Given the description of an element on the screen output the (x, y) to click on. 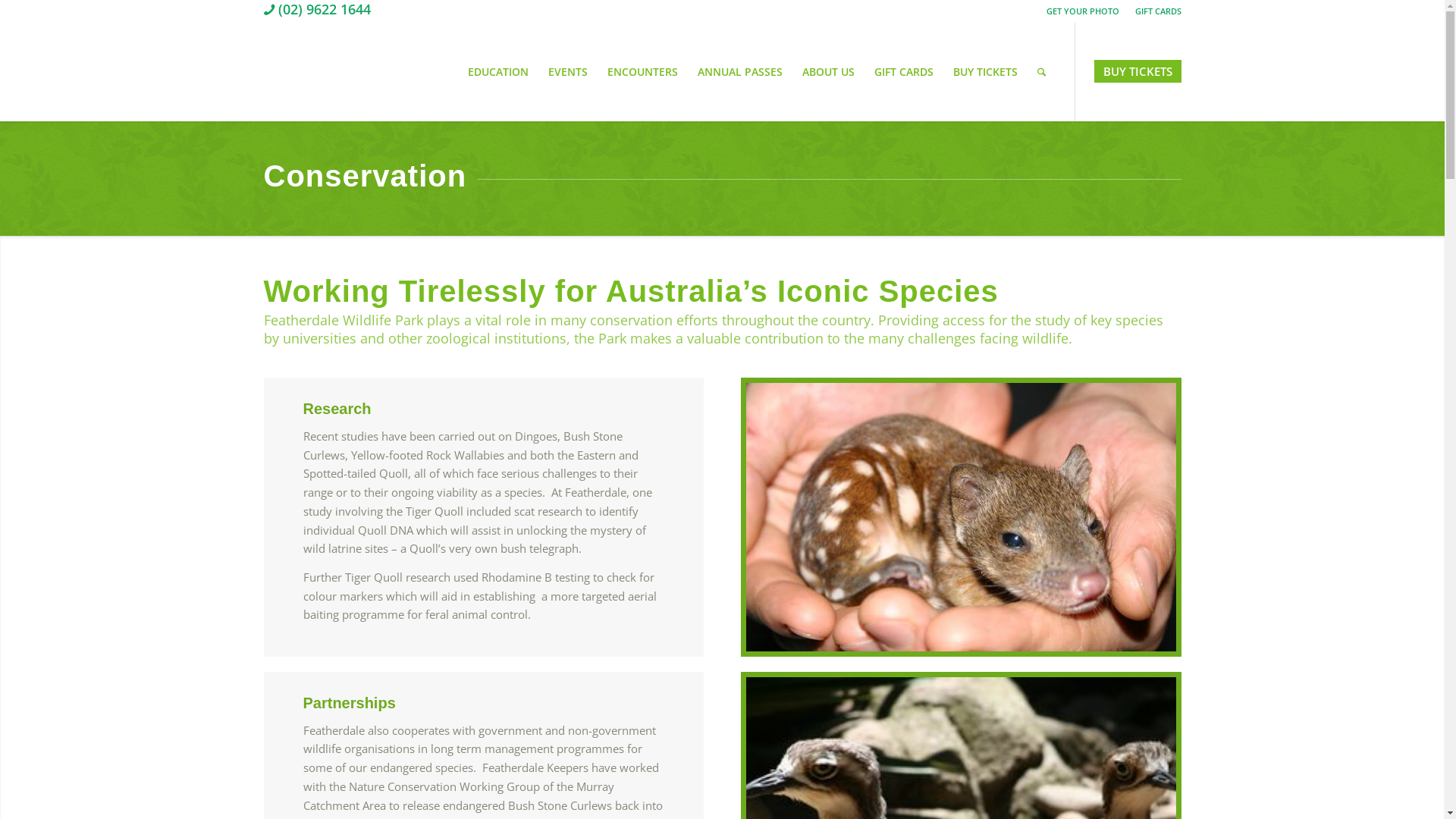
ENCOUNTERS Element type: text (642, 71)
ABOUT US Element type: text (827, 71)
GIFT CARDS Element type: text (1157, 10)
GIFT CARDS Element type: text (903, 71)
BUY TICKETS Element type: text (985, 71)
BUY TICKETS Element type: text (1136, 71)
ANNUAL PASSES Element type: text (739, 71)
(02) 9622 1644 Element type: text (316, 9)
EDUCATION Element type: text (498, 71)
EVENTS Element type: text (567, 71)
GET YOUR PHOTO Element type: text (1082, 10)
